Given the description of an element on the screen output the (x, y) to click on. 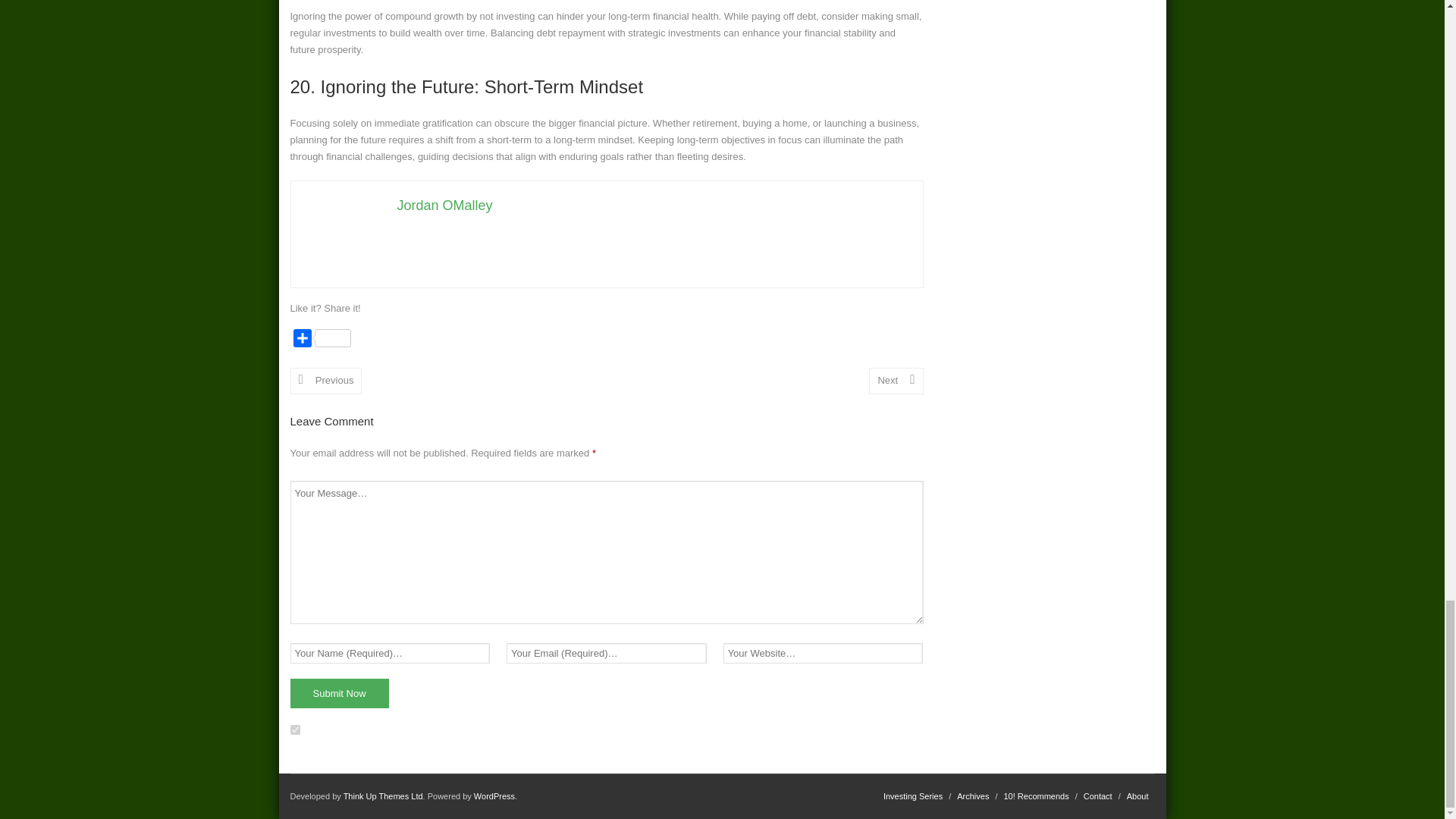
Next (896, 380)
Share (321, 340)
Submit Now (338, 693)
Jordan OMalley (445, 205)
Previous (325, 380)
on (294, 729)
Submit Now (338, 693)
